Given the description of an element on the screen output the (x, y) to click on. 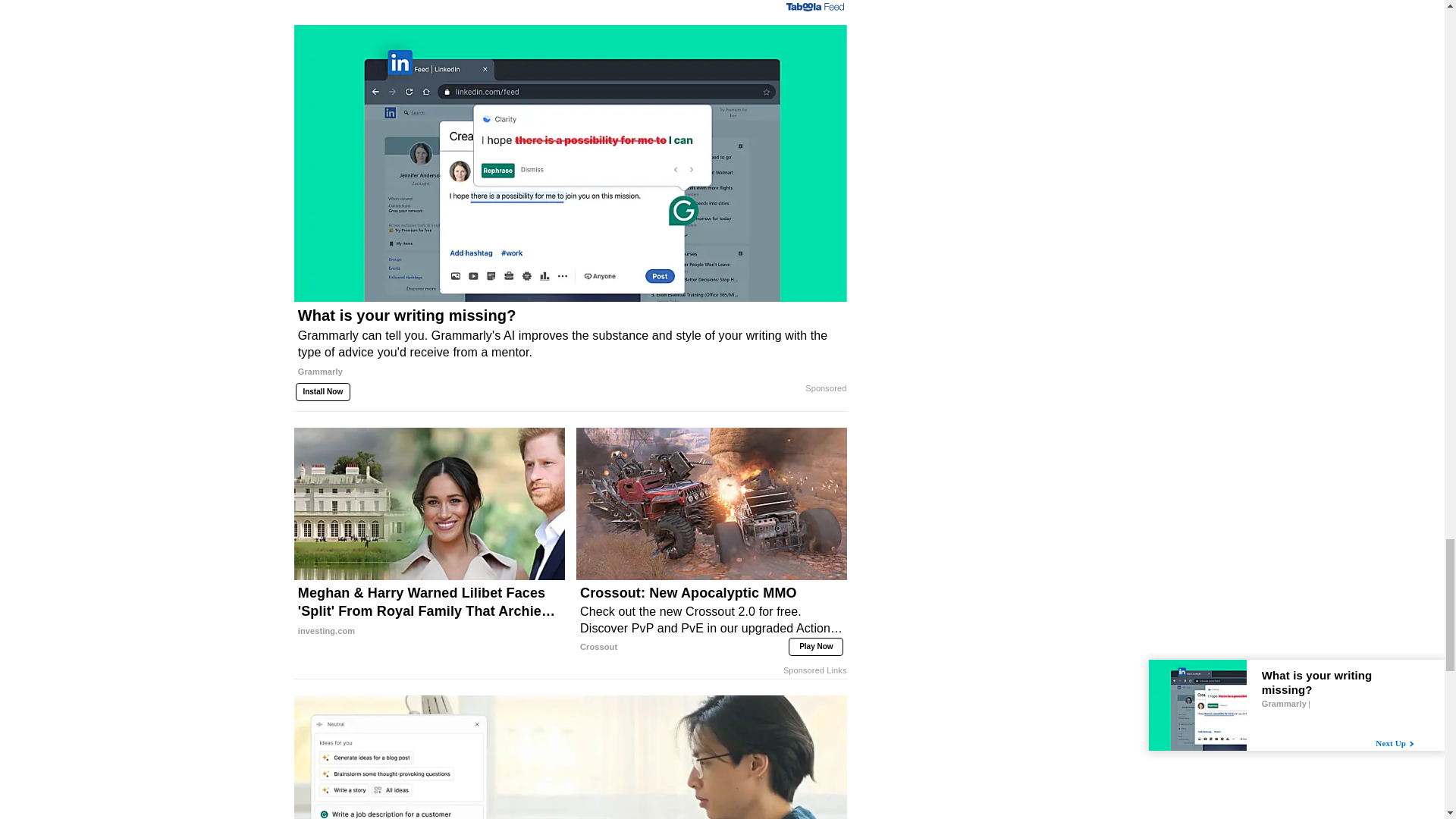
Play Now (816, 646)
Install Now (322, 391)
What is your writing missing? (570, 348)
Sponsored (825, 388)
Sponsored Links (815, 670)
